Given the description of an element on the screen output the (x, y) to click on. 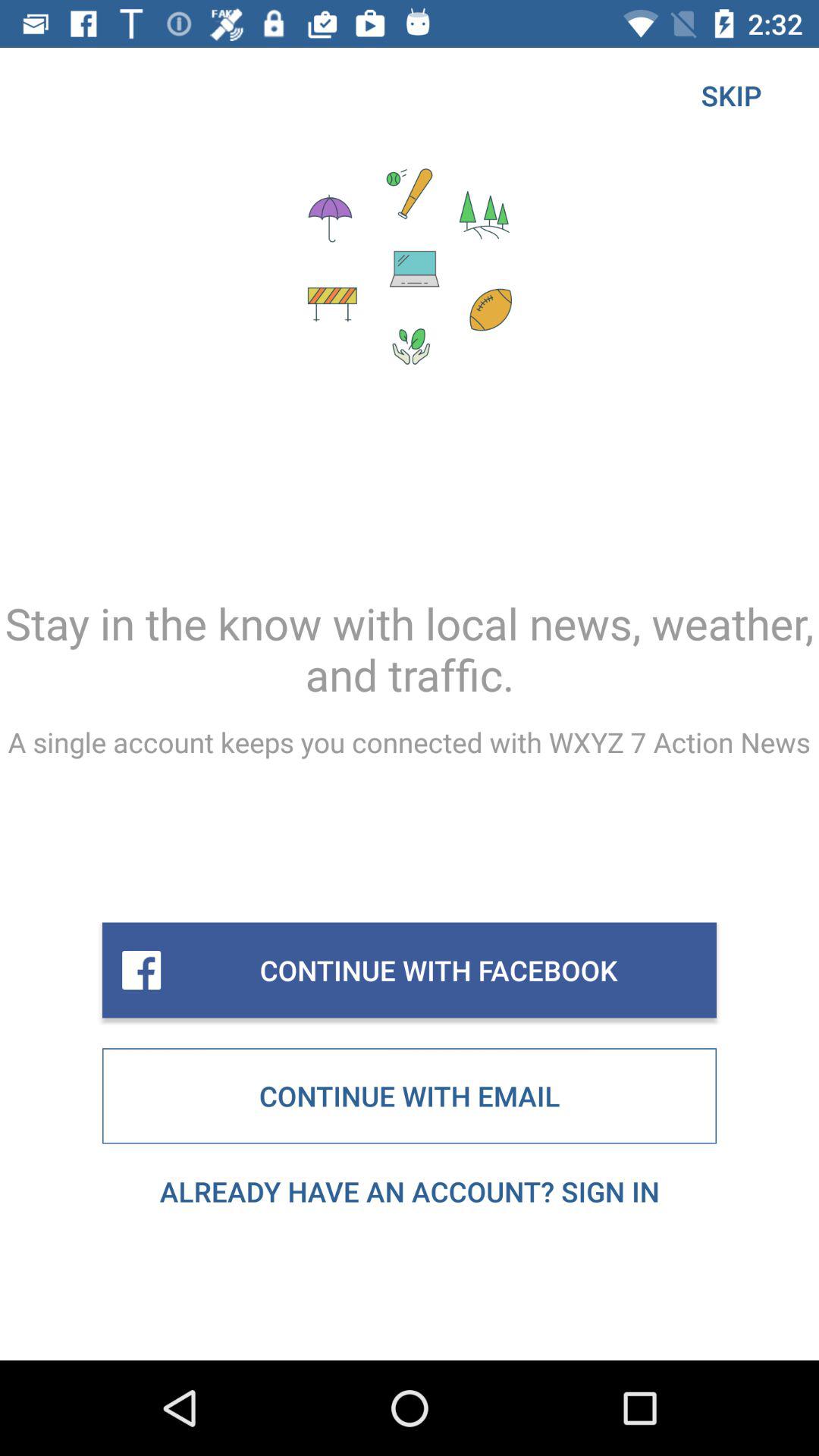
choose item below continue with email icon (409, 1191)
